Given the description of an element on the screen output the (x, y) to click on. 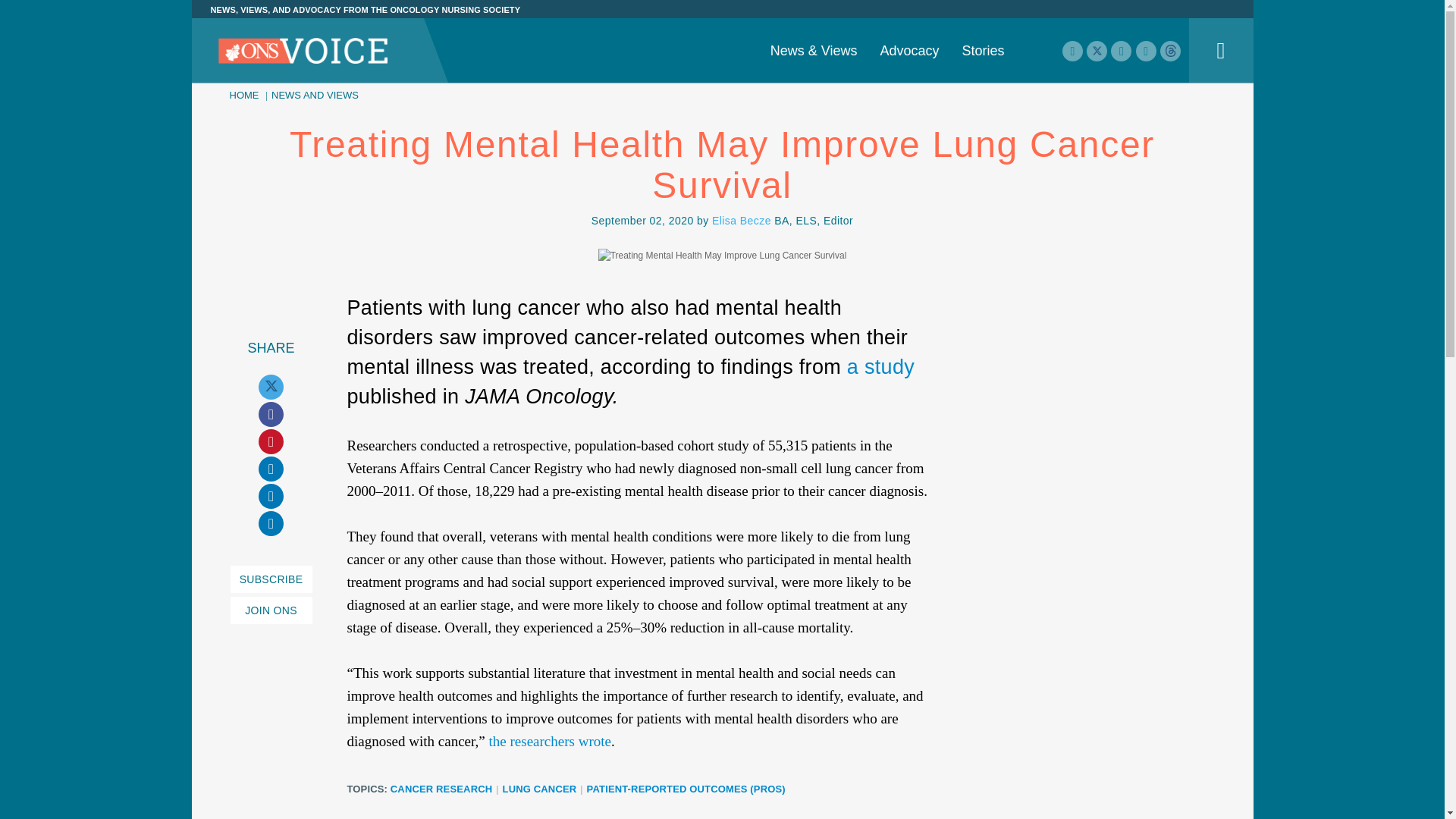
GET INVOLVED (721, 37)
Advocacy (908, 50)
LATEST ARTICLES (466, 37)
Advocacy (908, 50)
Stories (982, 50)
Home (302, 51)
ONS CONGRESS (999, 2)
Stories (982, 50)
